Given the description of an element on the screen output the (x, y) to click on. 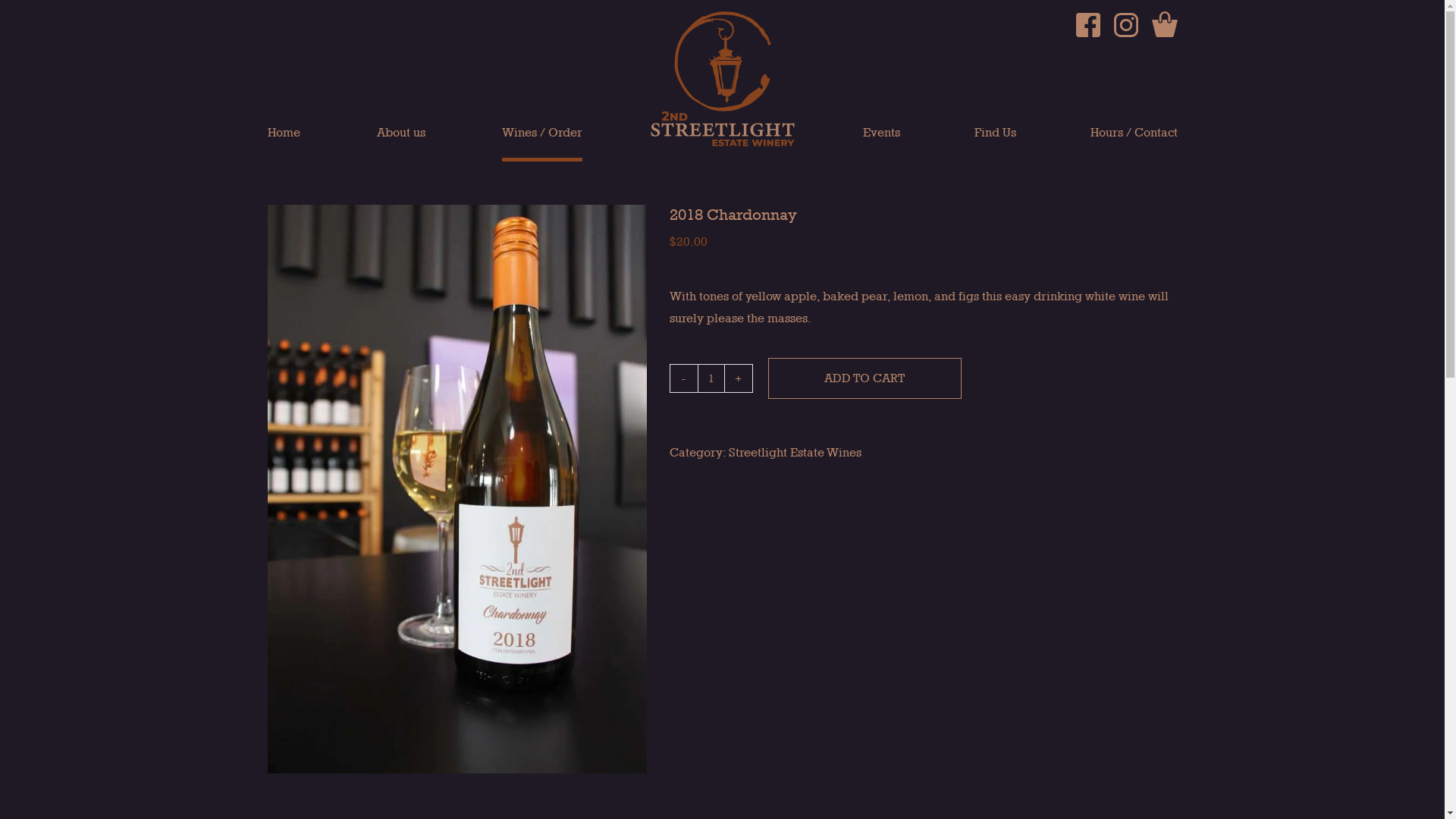
ADD TO CART Element type: text (863, 377)
Events Element type: text (881, 143)
Hours / Contact Element type: text (1133, 143)
Streetlight Estate Winery Chardonnay Wine Element type: hover (456, 488)
Facebook Element type: text (1087, 24)
Wines / Order Element type: text (542, 143)
Instagram Element type: text (1125, 24)
Home Element type: text (282, 143)
Streetlight Estate Wines Element type: text (794, 452)
Find Us Element type: text (994, 143)
About us Element type: text (400, 143)
Cart Element type: hover (1163, 24)
